Given the description of an element on the screen output the (x, y) to click on. 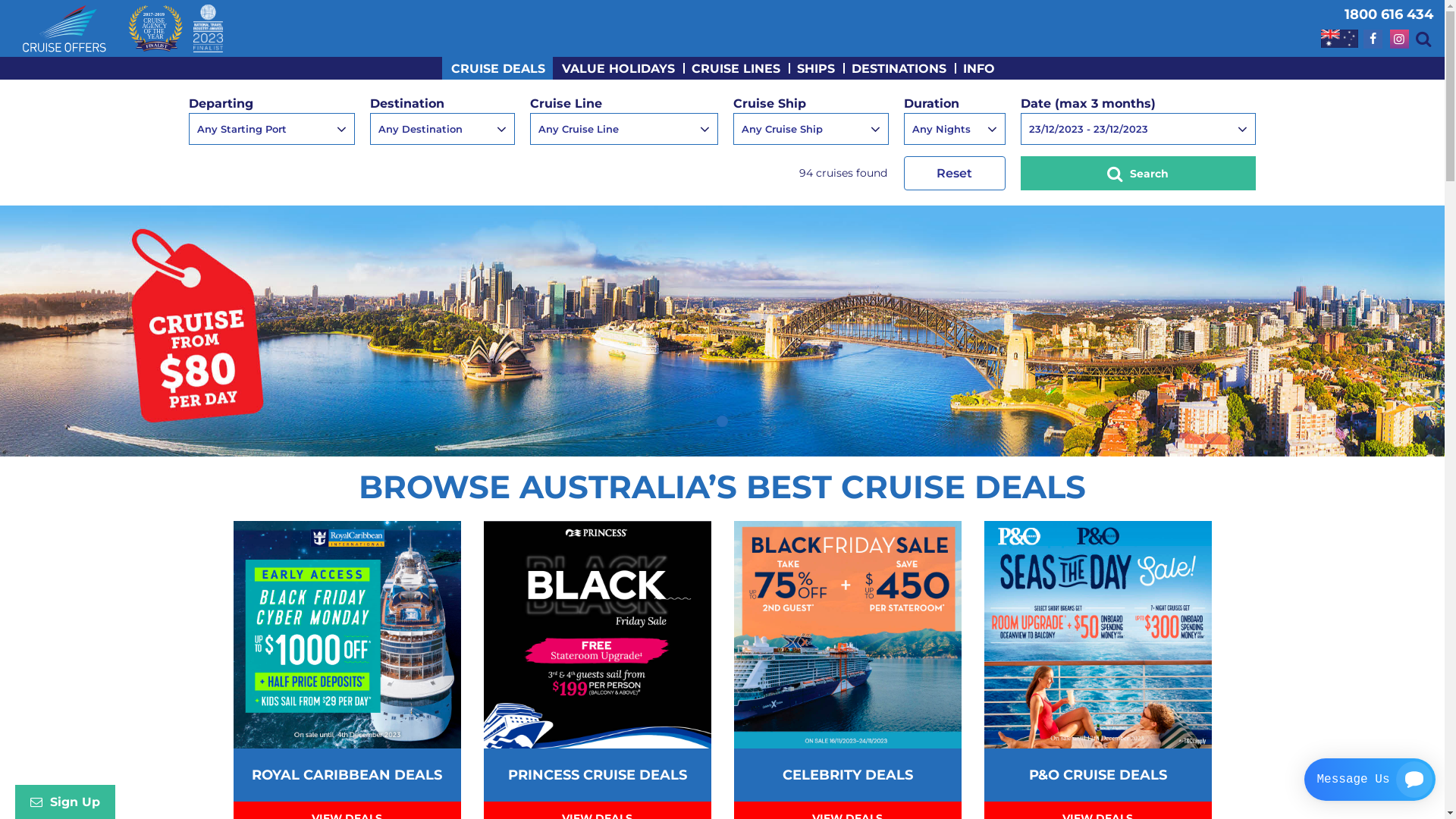
1800 616 434 Element type: text (1388, 14)
Smartsupp widget button Element type: hover (1369, 779)
VALUE HOLIDAYS Element type: text (617, 67)
DESTINATIONS Element type: text (897, 67)
VIEW DEALS Element type: text (597, 723)
INFO Element type: text (977, 67)
VIEW DEALS Element type: text (847, 723)
VIEW DEALS Element type: text (347, 723)
VIEW DEALS Element type: text (1097, 723)
SHIPS Element type: text (814, 67)
CRUISE LINES Element type: text (734, 67)
CRUISE DEALS Element type: text (497, 67)
